Given the description of an element on the screen output the (x, y) to click on. 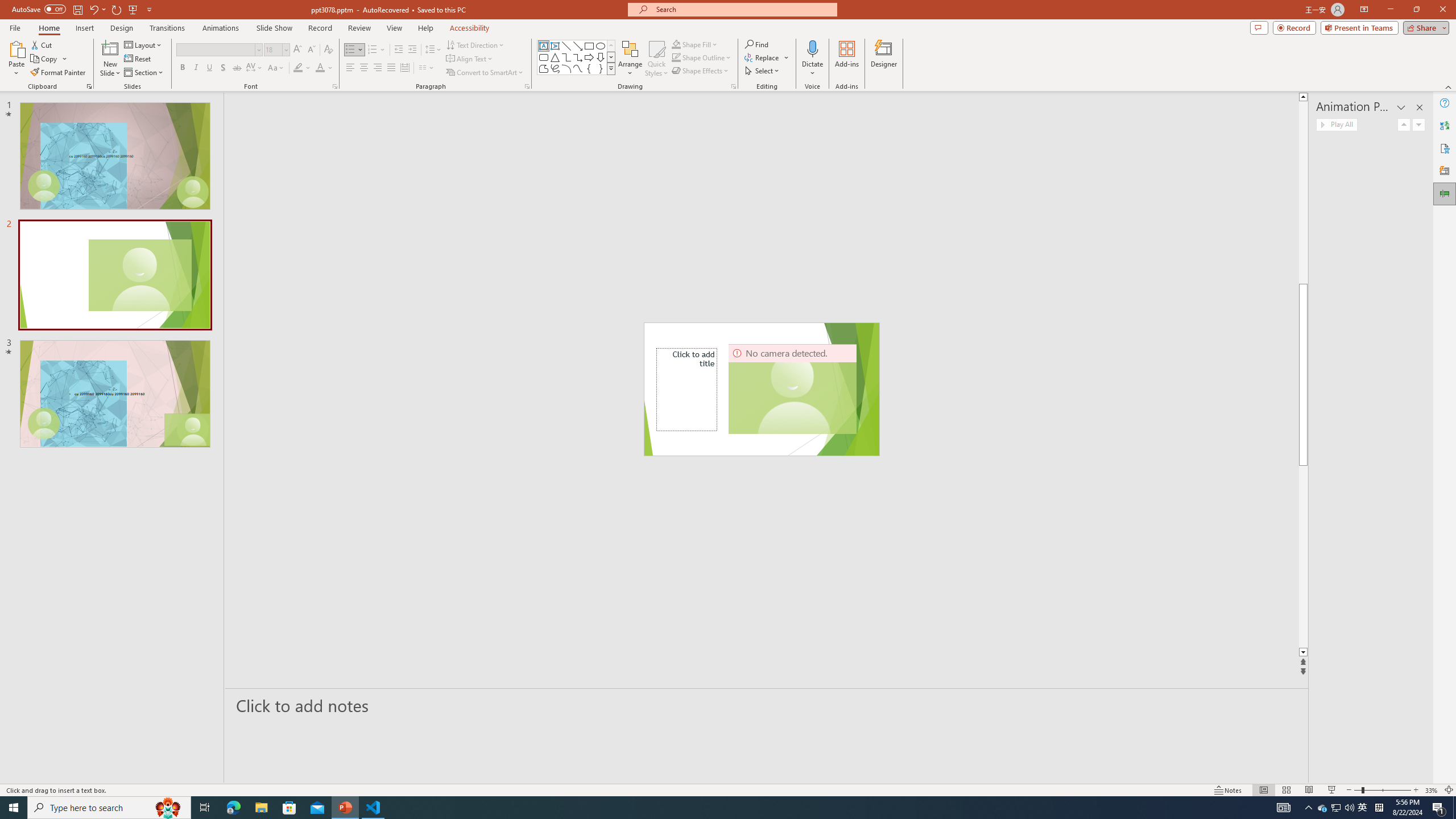
Move Up (1403, 124)
Zoom 33% (1431, 790)
